Given the description of an element on the screen output the (x, y) to click on. 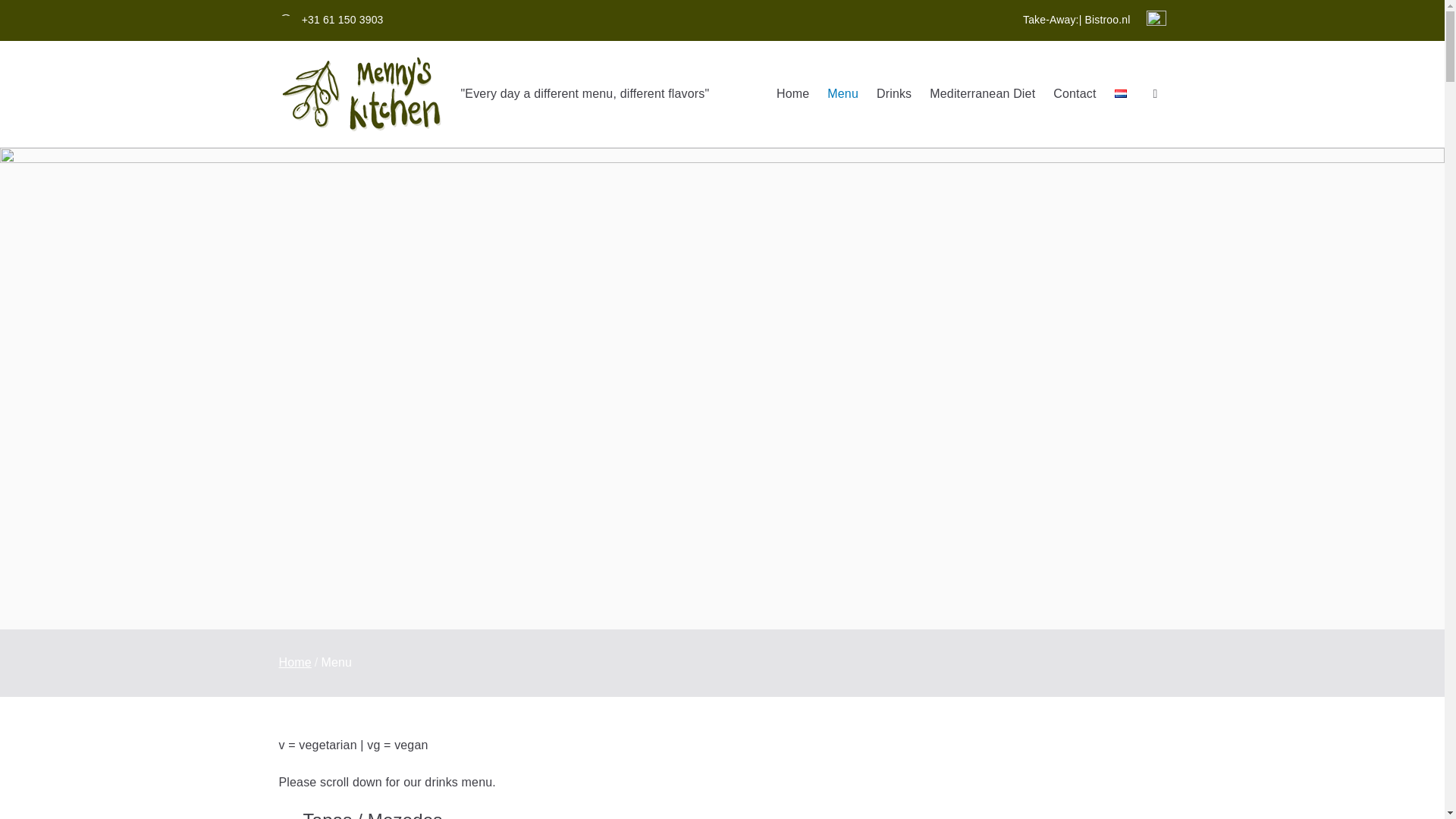
Menu (843, 94)
Home (295, 662)
Mediterranean Diet (982, 94)
Home (792, 94)
Drinks (893, 94)
Contact (1074, 94)
Bistroo.nl (1107, 19)
